Given the description of an element on the screen output the (x, y) to click on. 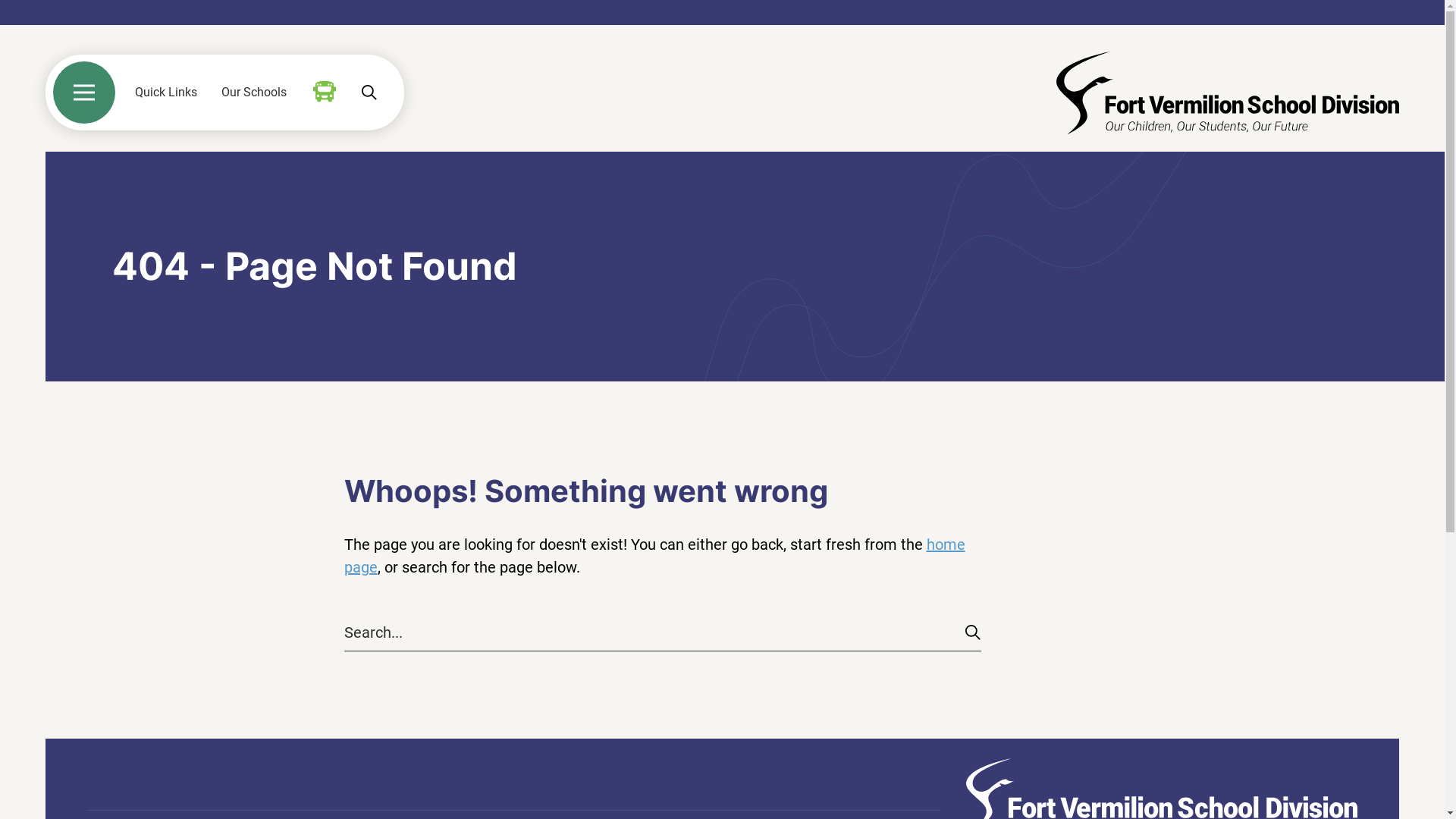
Bus Status Element type: hover (324, 91)
Toggle Search Element type: text (369, 92)
home page Element type: text (654, 555)
Fort Vermilion School Division Element type: hover (1227, 92)
Our Schools Element type: text (253, 92)
Menu Element type: text (84, 92)
Quick Links Element type: text (165, 92)
